Given the description of an element on the screen output the (x, y) to click on. 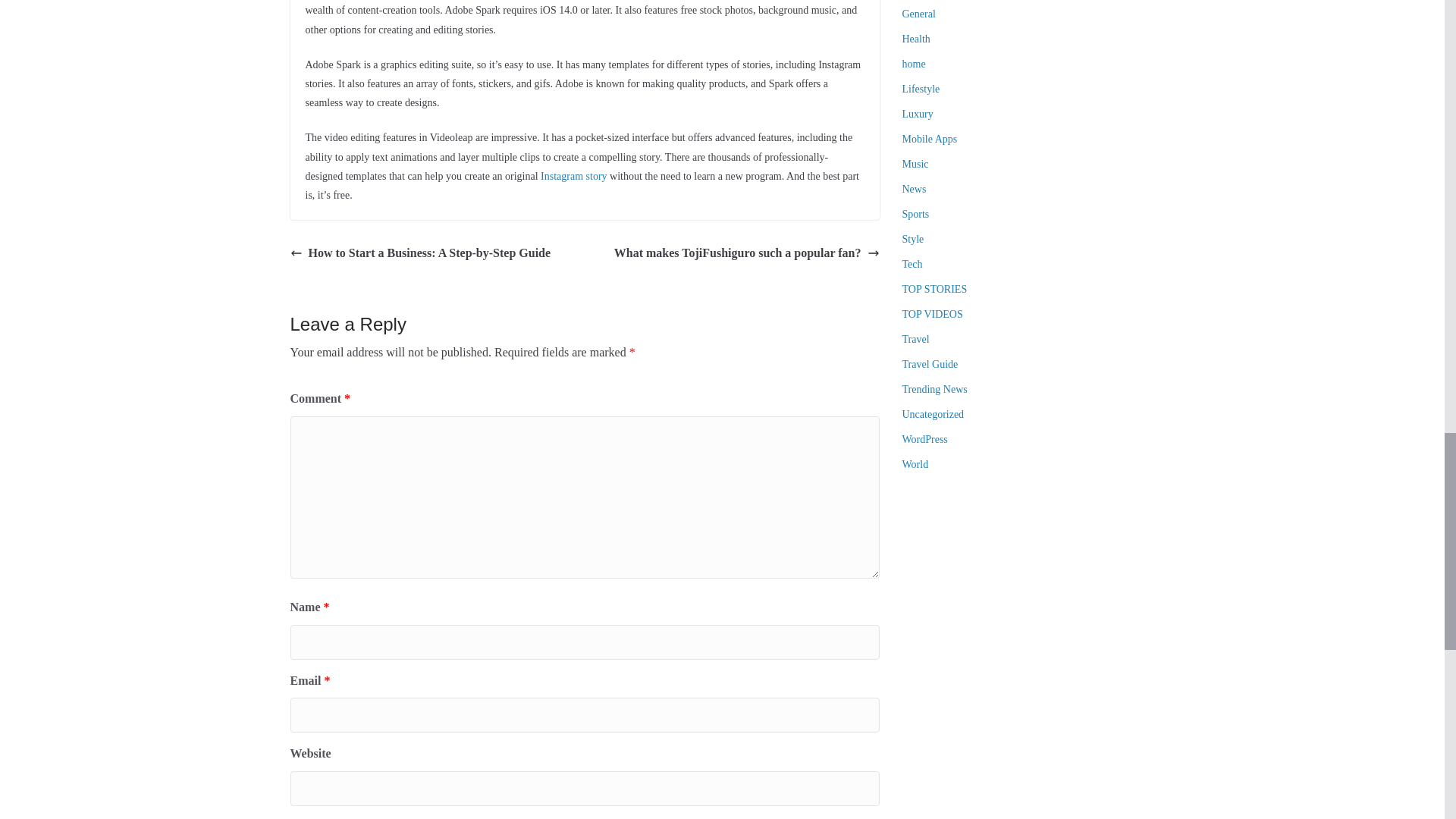
What makes TojiFushiguro such a popular fan? (746, 253)
Instagram story (572, 175)
How to Start a Business: A Step-by-Step Guide (419, 253)
